Given the description of an element on the screen output the (x, y) to click on. 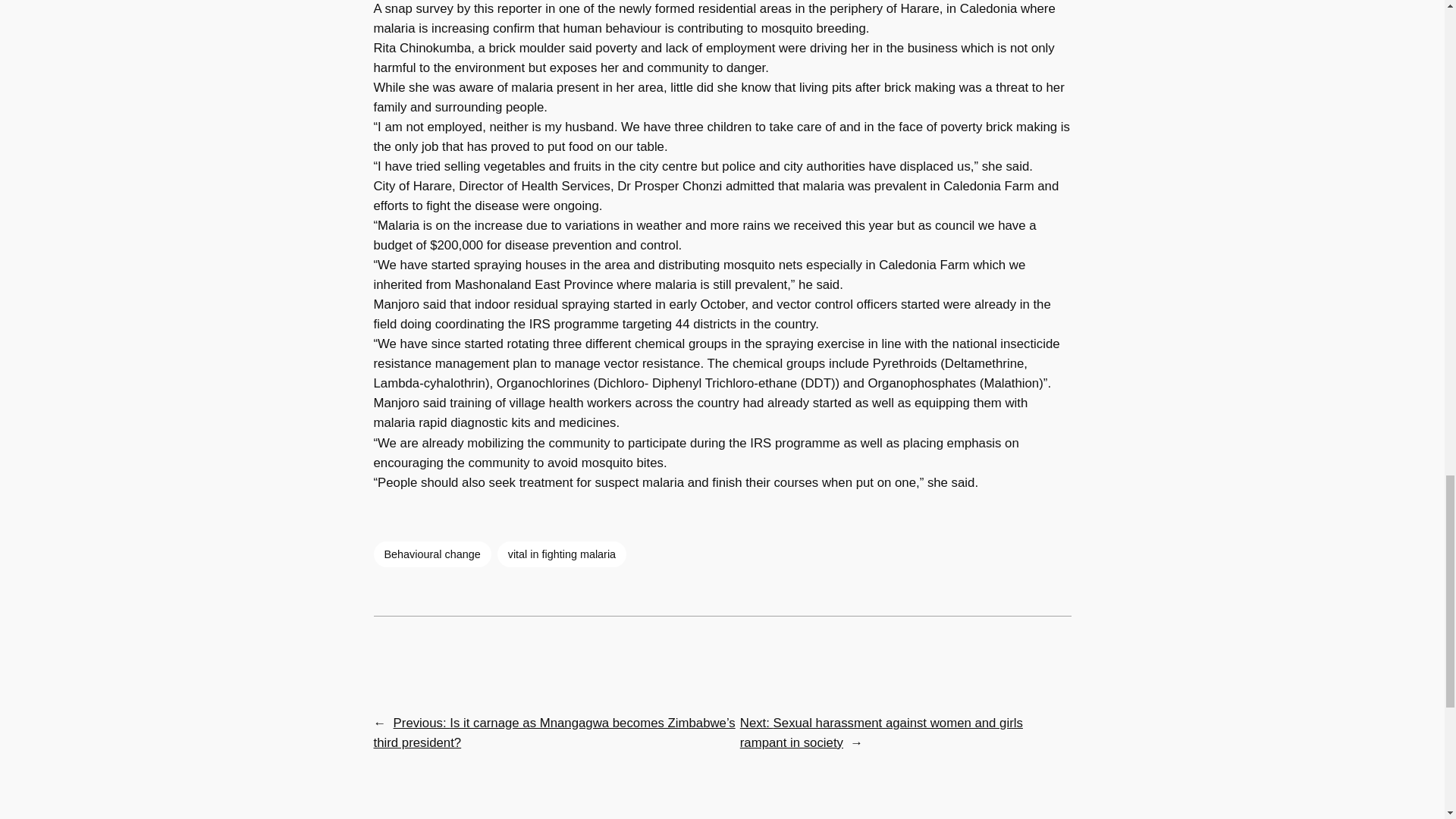
Behavioural change (431, 554)
vital in fighting malaria (561, 554)
